Given the description of an element on the screen output the (x, y) to click on. 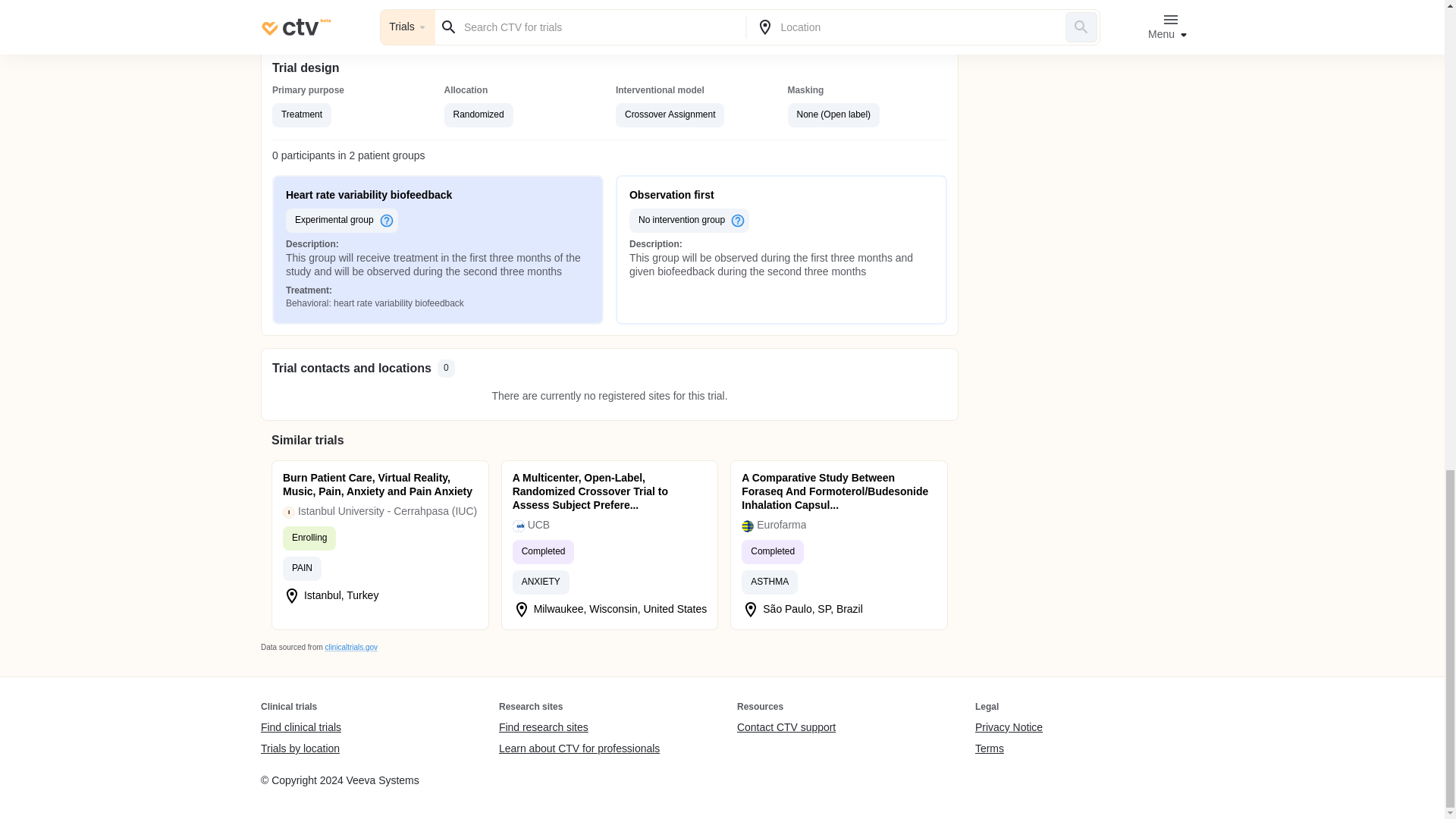
Terms (1008, 748)
clinicaltrials.gov (350, 646)
Contact CTV support (785, 727)
Trials by location (300, 748)
Find clinical trials (300, 727)
Learn about CTV for professionals (579, 748)
Find research sites (579, 727)
Privacy Notice (1008, 727)
